Given the description of an element on the screen output the (x, y) to click on. 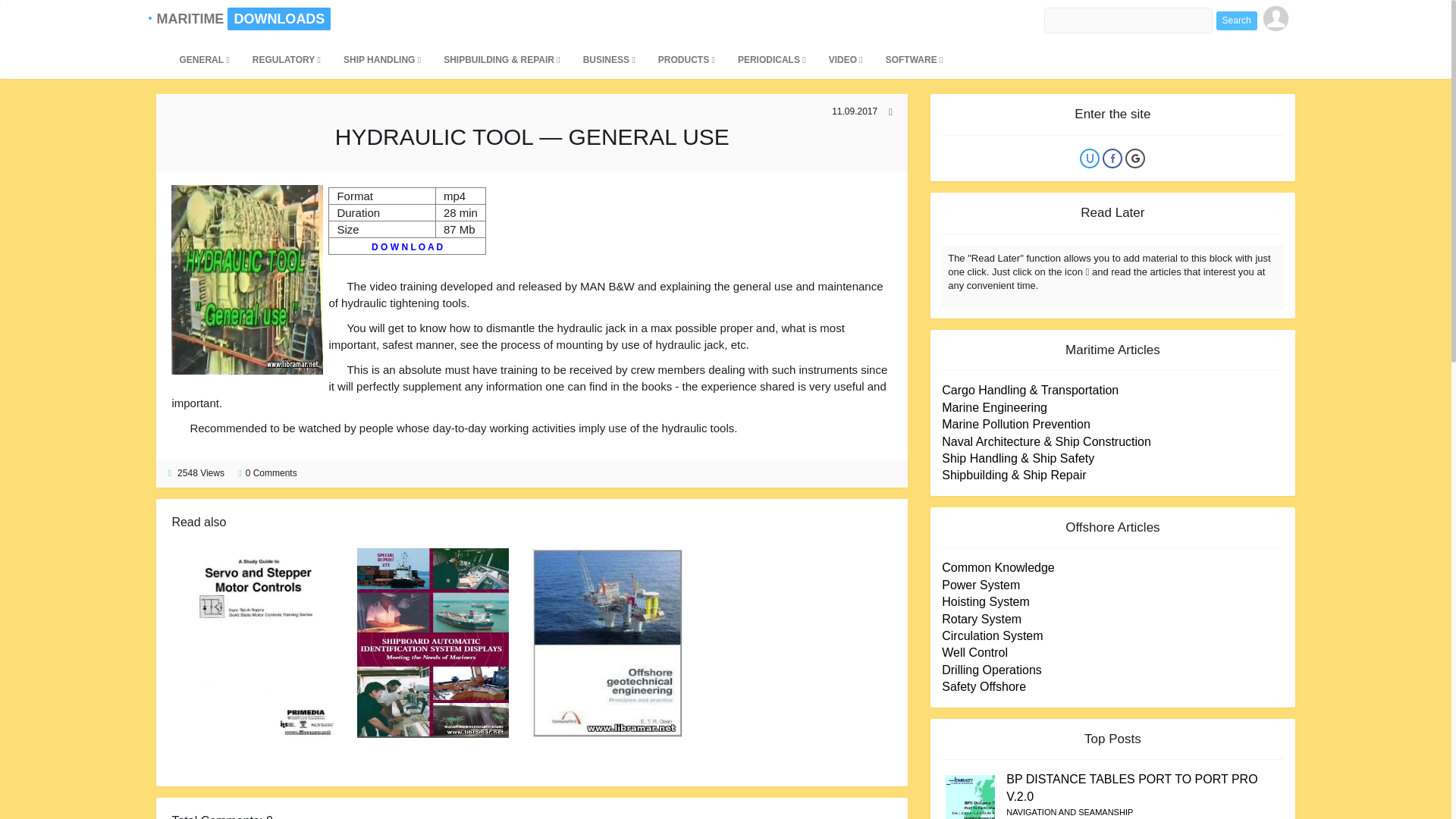
GENERAL (203, 59)
Log in with uID (1089, 158)
Log in with Google (1134, 158)
Log in with Facebook (1112, 158)
BP DISTANCE TABLES PORT TO PORT PRO V.2.0 (1131, 787)
MARITIMEDOWNLOADS (192, 18)
Search (1236, 20)
Search (1236, 20)
NAVIGATION AND SEAMANSHIP (1069, 811)
Search (1236, 20)
SHIP HANDLING (381, 59)
REGULATORY (286, 59)
